Given the description of an element on the screen output the (x, y) to click on. 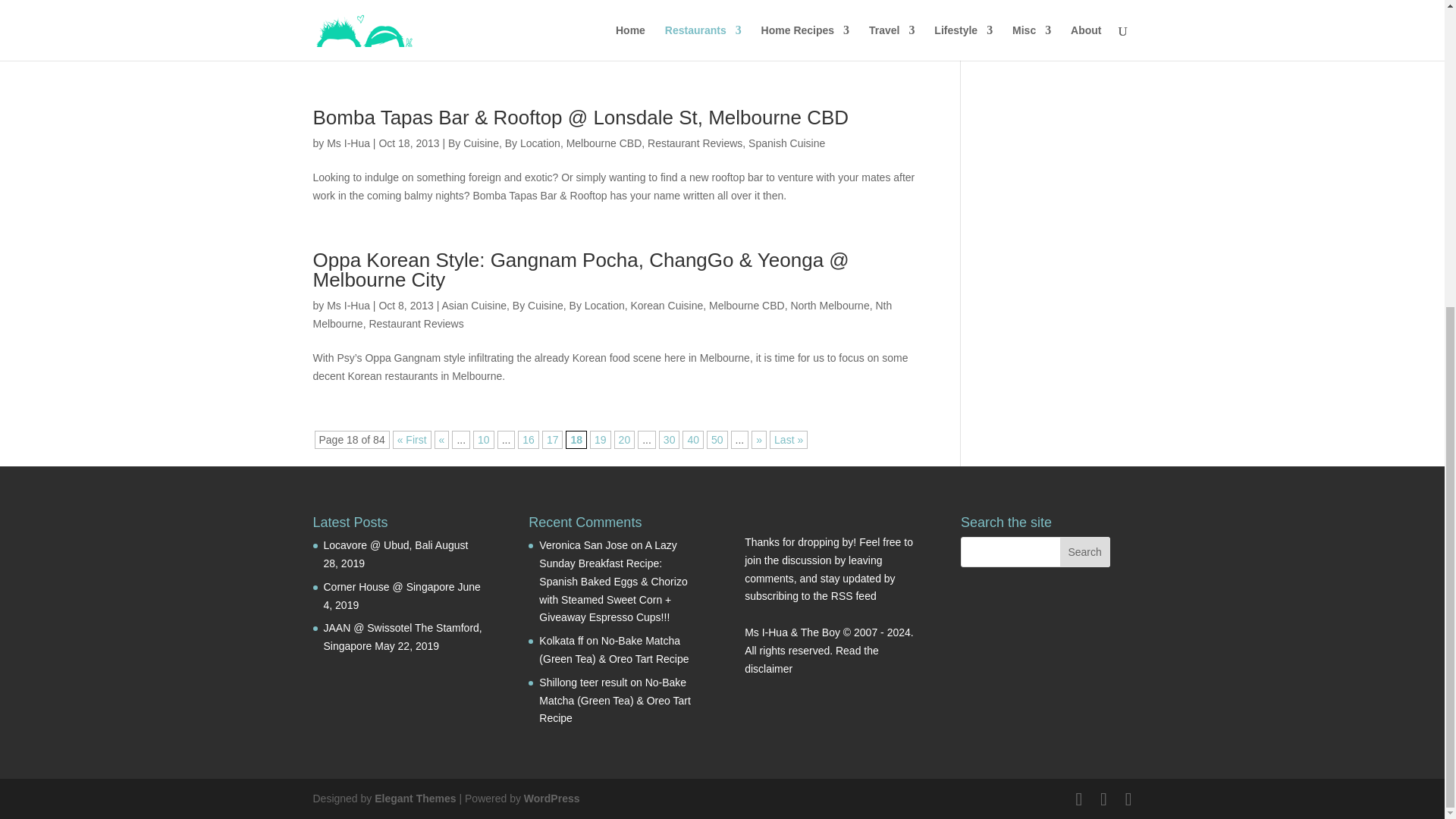
Search (1084, 552)
Page 40 (692, 439)
Page 16 (528, 439)
Page 20 (624, 439)
Page 50 (717, 439)
Posts by Ms I-Hua (347, 143)
Posts by Ms I-Hua (347, 305)
Premium WordPress Themes (414, 798)
Page 30 (669, 439)
Posts by Ms I-Hua (347, 3)
